Given the description of an element on the screen output the (x, y) to click on. 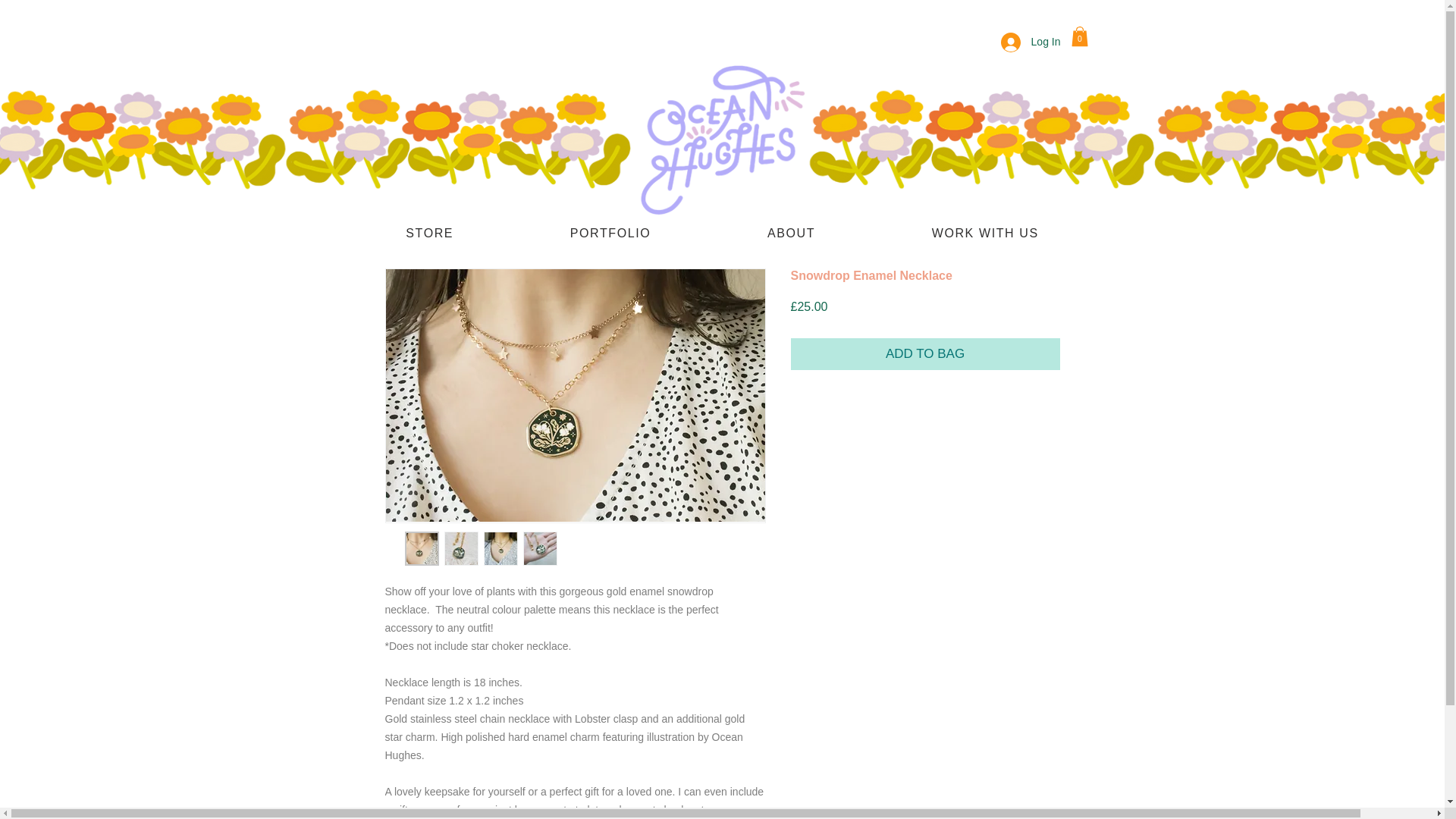
ABOUT (790, 234)
WORK WITH US (985, 234)
STORE (429, 234)
ADD TO BAG (924, 354)
PORTFOLIO (610, 234)
Log In (1030, 41)
